Given the description of an element on the screen output the (x, y) to click on. 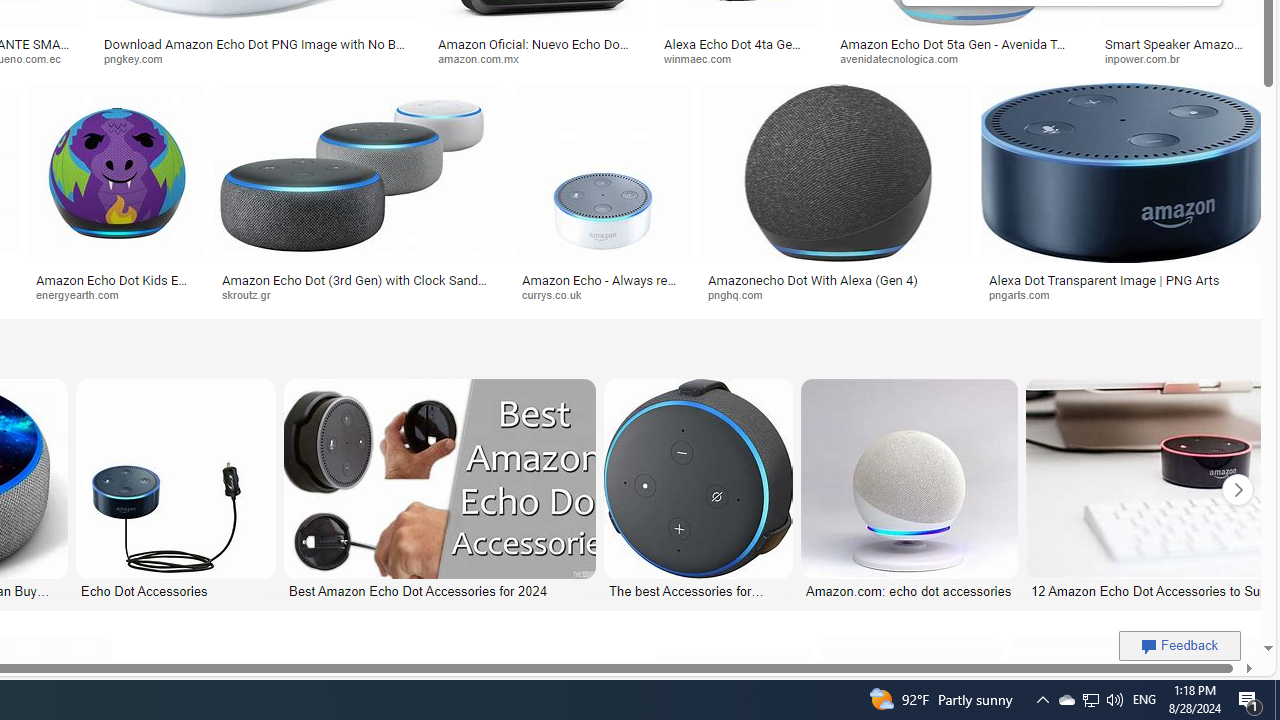
avenidatecnologica.com (905, 57)
Echo Dot Accessories (175, 589)
Amazon Echo - Always ready, connected and fast. Just ask. (603, 286)
Amazonecho Dot With Alexa (Gen 4) (812, 279)
Amazonecho Dot With Alexa (Gen 4)pnghq.comSave (840, 196)
skroutz.gr (253, 294)
Alexa Dot Transparent Image | PNG Arts (1104, 279)
Feedback (1179, 645)
Echo Dot Accessories Echo Dot Accessories (175, 489)
